Given the description of an element on the screen output the (x, y) to click on. 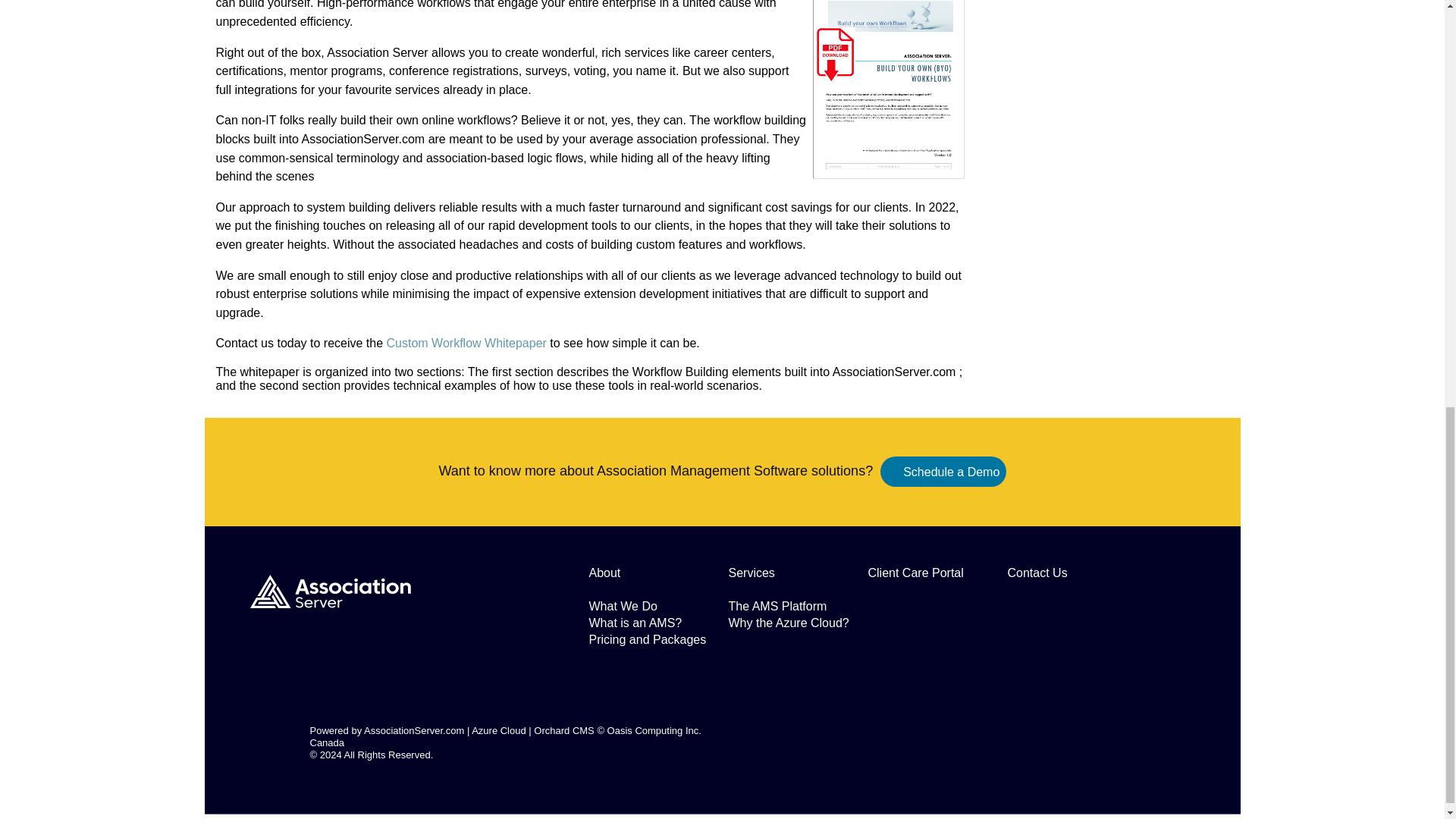
Schedule a Demo (950, 472)
Custom Workflow Whitepaper (464, 342)
